Given the description of an element on the screen output the (x, y) to click on. 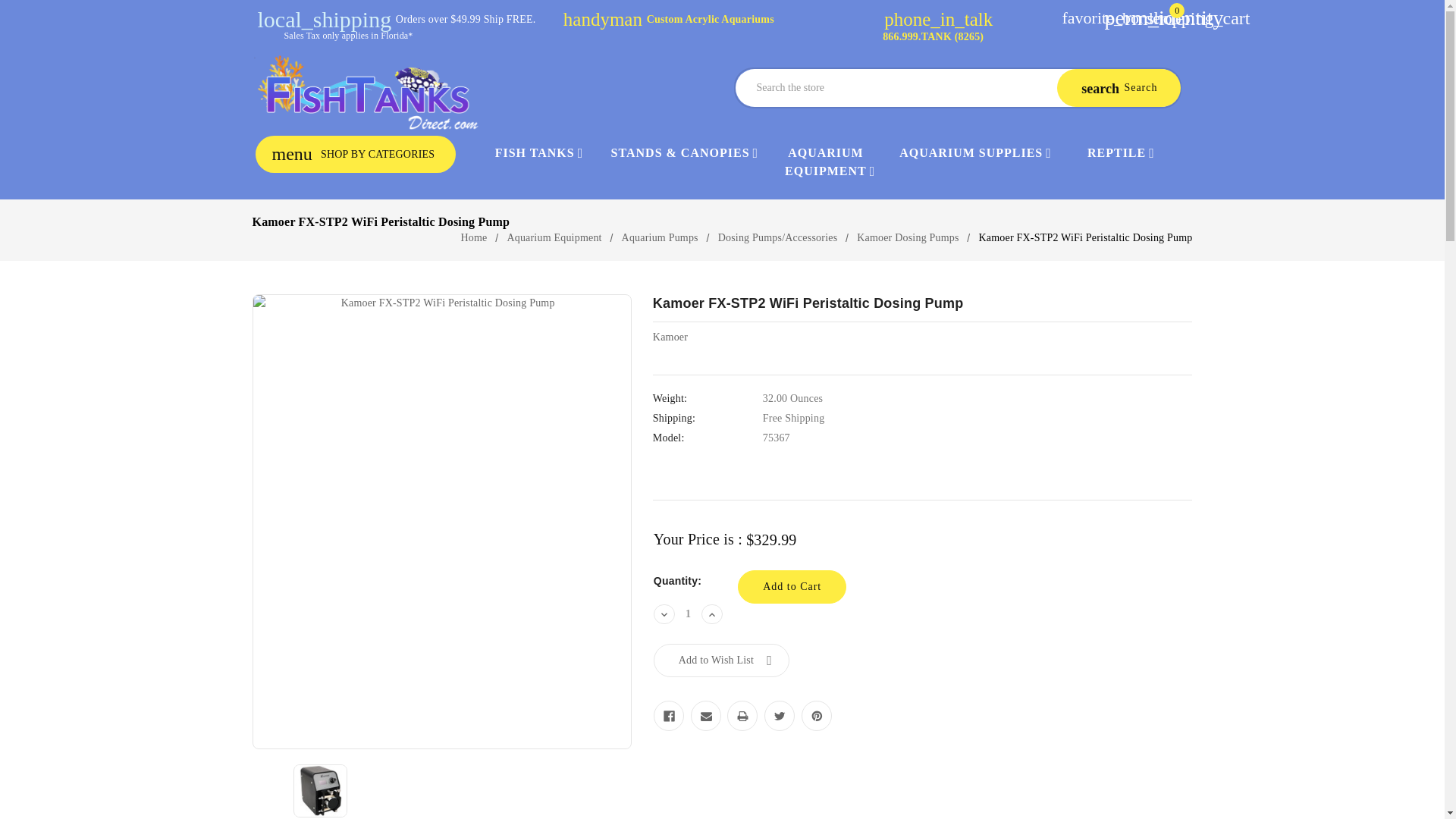
1 (688, 613)
Add to Cart (791, 586)
Fish Tanks Direct (365, 92)
Cart (1166, 18)
Submit Search (1118, 87)
search Search (1118, 87)
Wish Lists (1082, 18)
My Account (1125, 18)
handyman Custom Acrylic Aquariums (668, 19)
